Given the description of an element on the screen output the (x, y) to click on. 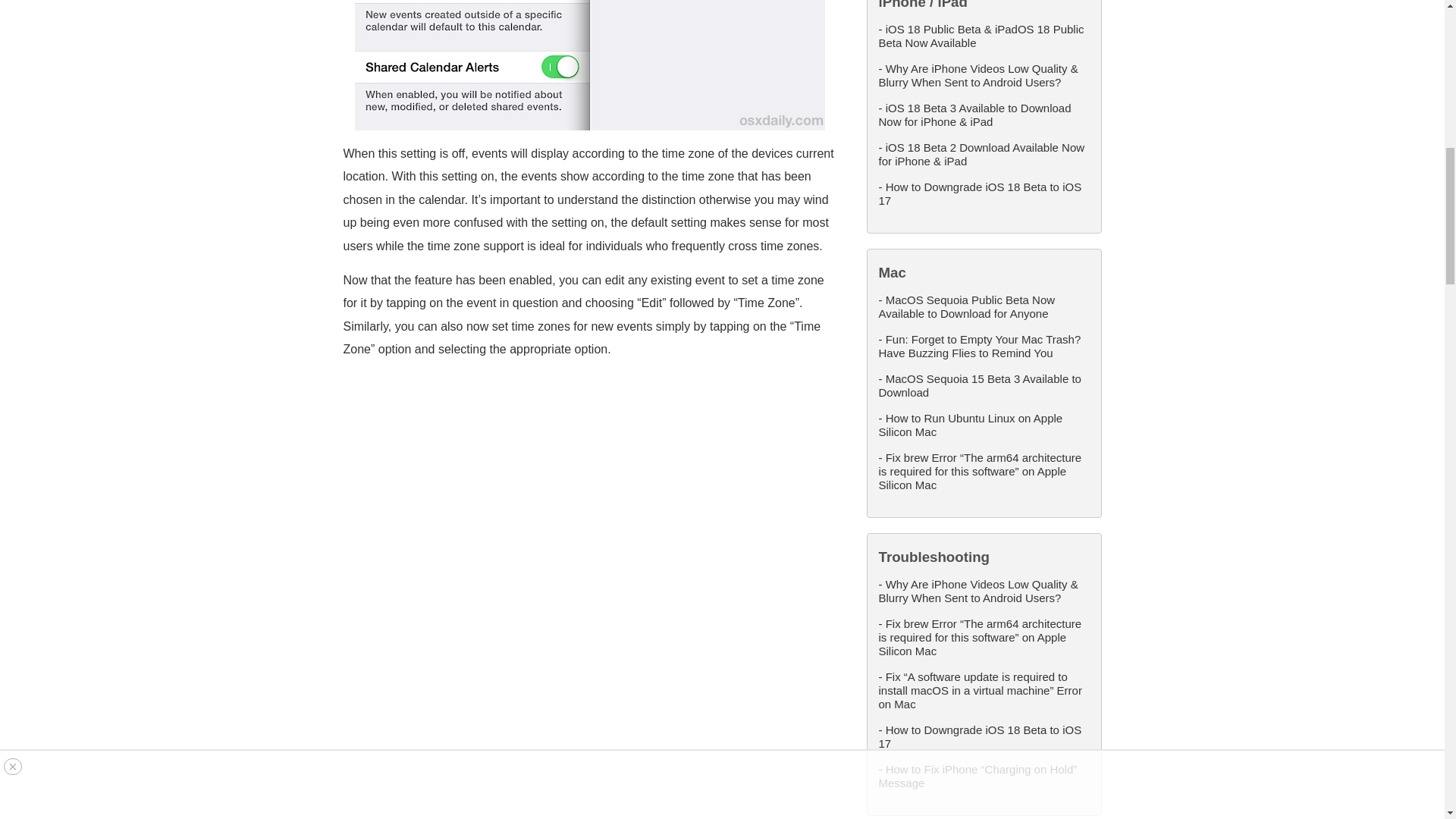
set-time-zone-event-calendar-ios (589, 694)
enable-time-zone-support-calendar-ios (589, 65)
